Given the description of an element on the screen output the (x, y) to click on. 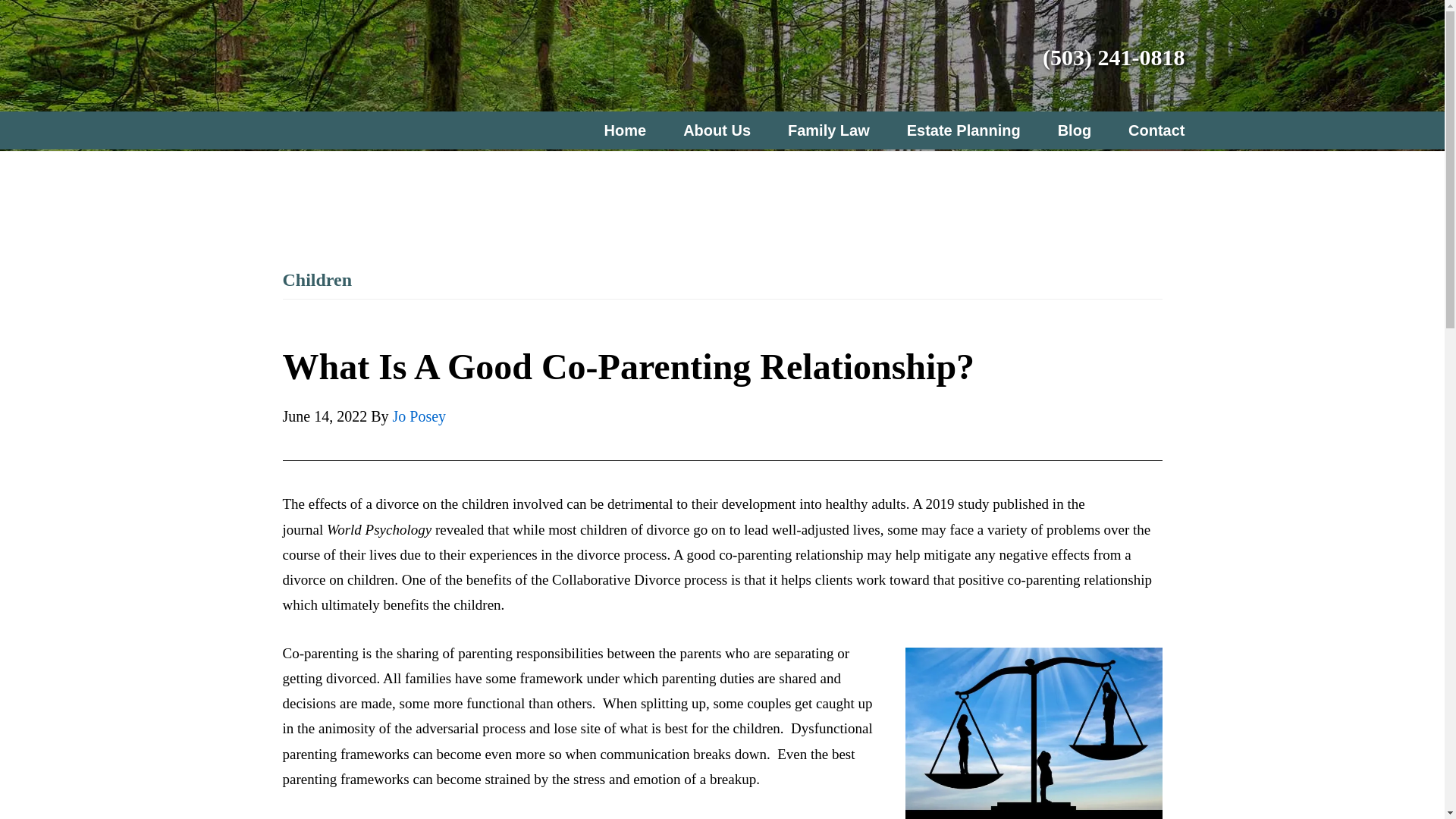
Estate Planning (969, 130)
Home (630, 130)
Family Law (834, 130)
POSEY LEGAL, PC (349, 55)
About Us (722, 130)
